Given the description of an element on the screen output the (x, y) to click on. 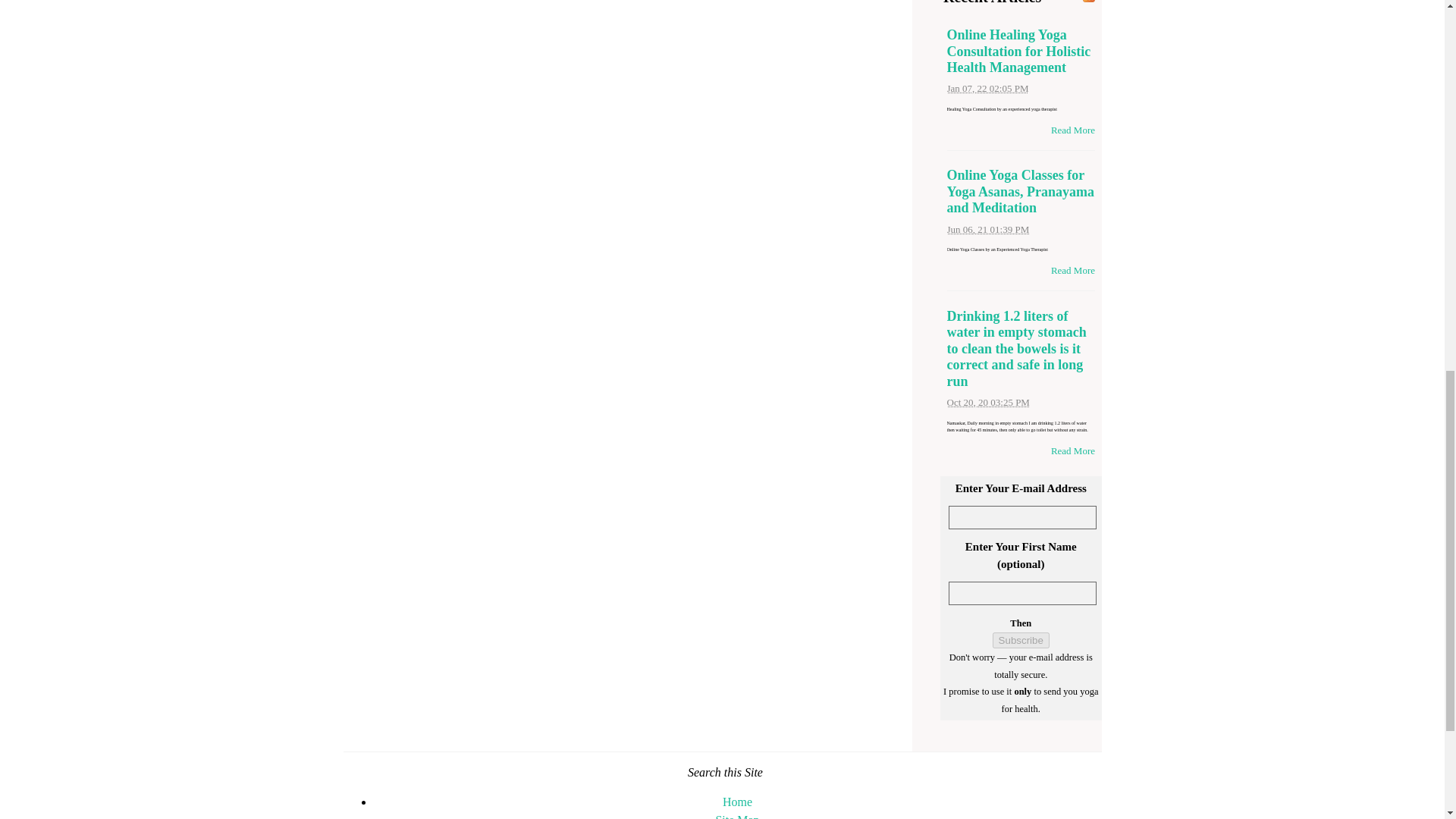
2020-10-20T15:25:51-0400 (987, 401)
Home (737, 801)
Read More (1072, 450)
Site Map (736, 816)
2022-01-07T14:05:56-0500 (986, 88)
Read More (1072, 270)
Read More (1072, 129)
Subscribe (1020, 640)
Recent Articles (992, 2)
2021-06-06T13:39:12-0400 (987, 229)
